Given the description of an element on the screen output the (x, y) to click on. 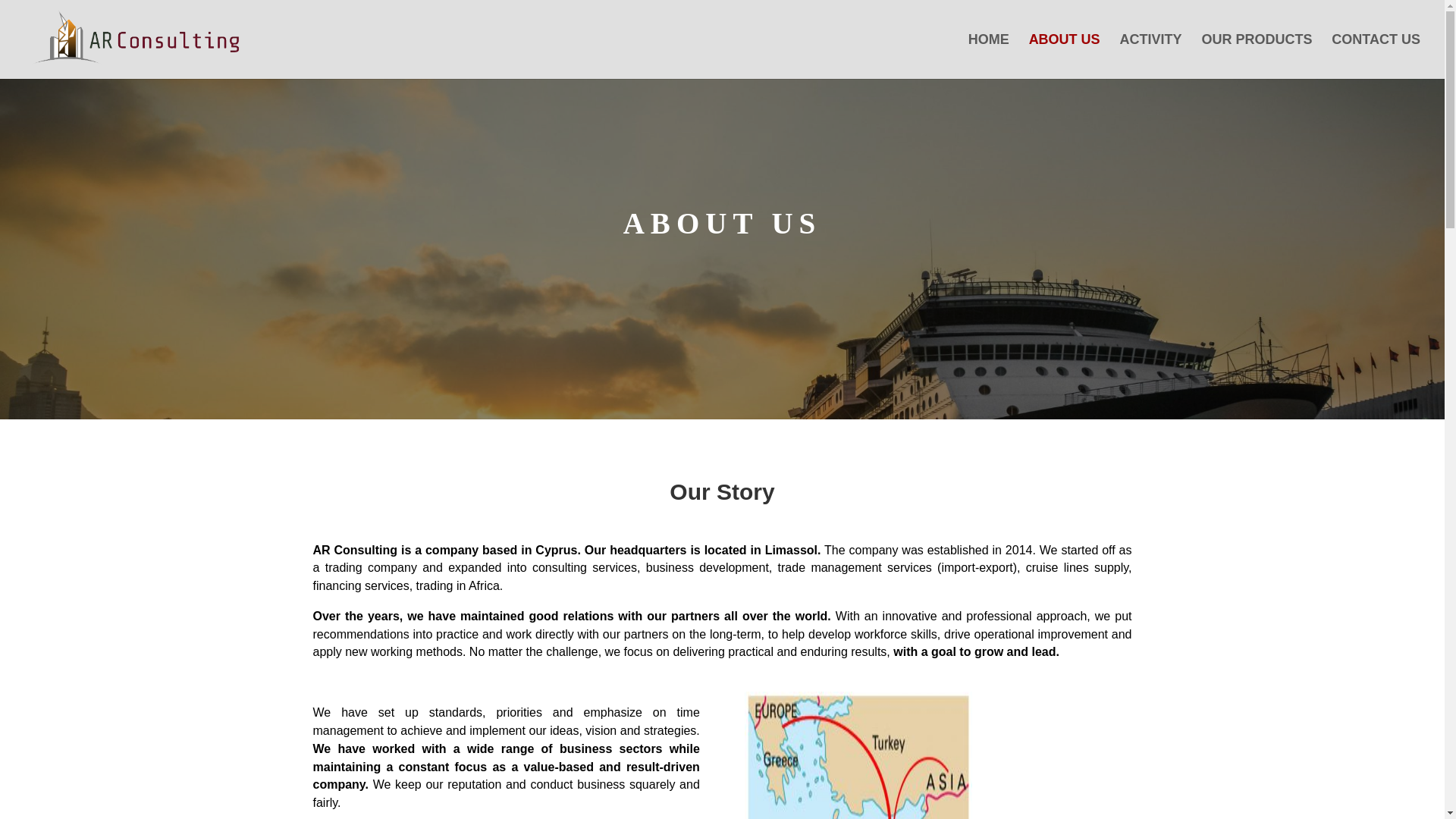
map-300x247 (858, 755)
HOME (988, 56)
CONTACT US (1376, 56)
OUR PRODUCTS (1256, 56)
ACTIVITY (1150, 56)
ABOUT US (1064, 56)
